Given the description of an element on the screen output the (x, y) to click on. 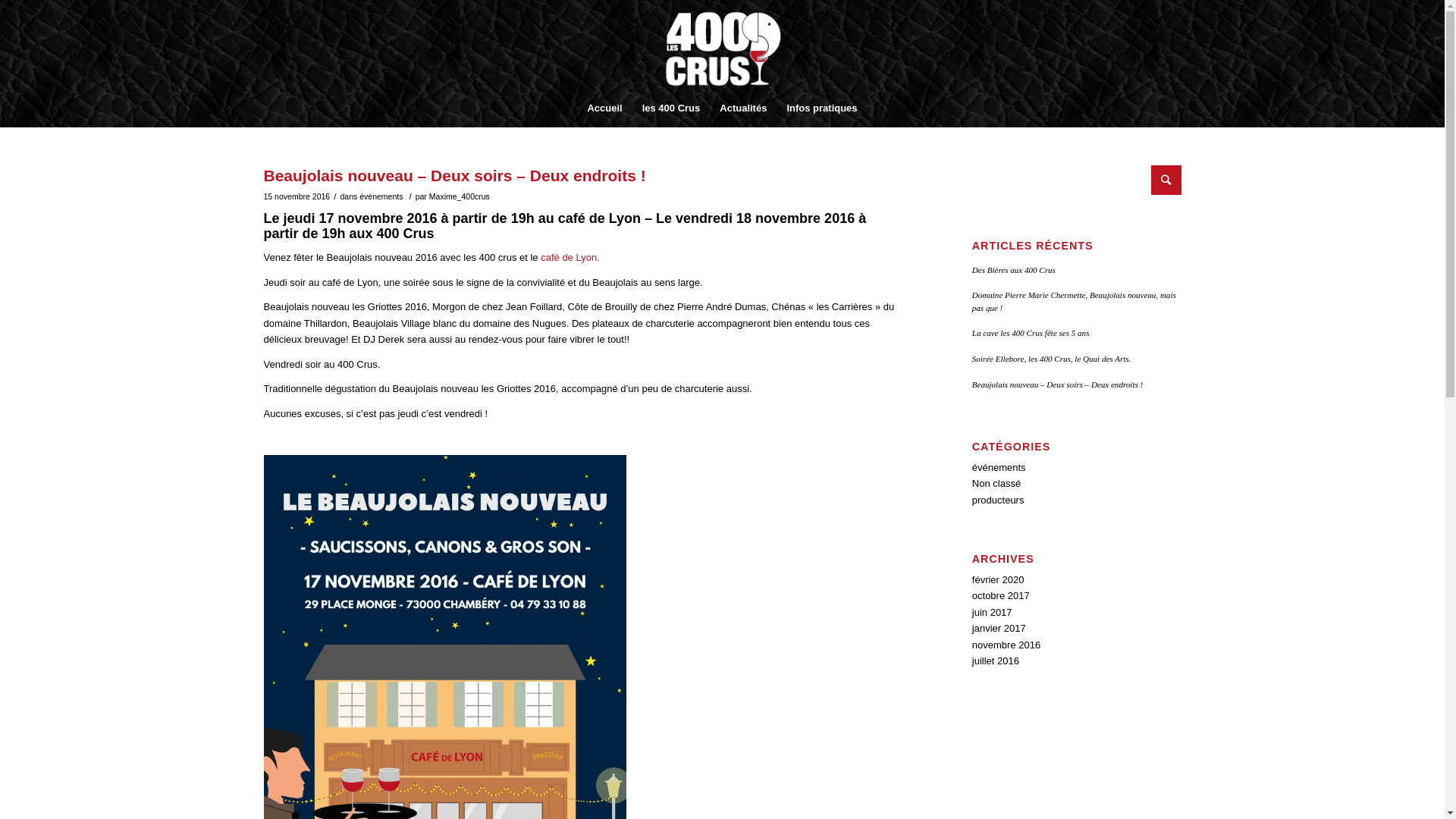
juin 2017 Element type: text (992, 612)
Accueil Element type: text (604, 108)
les 400 Crus Element type: text (671, 108)
octobre 2017 Element type: text (1000, 595)
Maxime_400crus Element type: text (459, 195)
janvier 2017 Element type: text (999, 627)
producteurs Element type: text (998, 499)
juillet 2016 Element type: text (995, 660)
Infos pratiques Element type: text (821, 108)
novembre 2016 Element type: text (1006, 644)
